Given the description of an element on the screen output the (x, y) to click on. 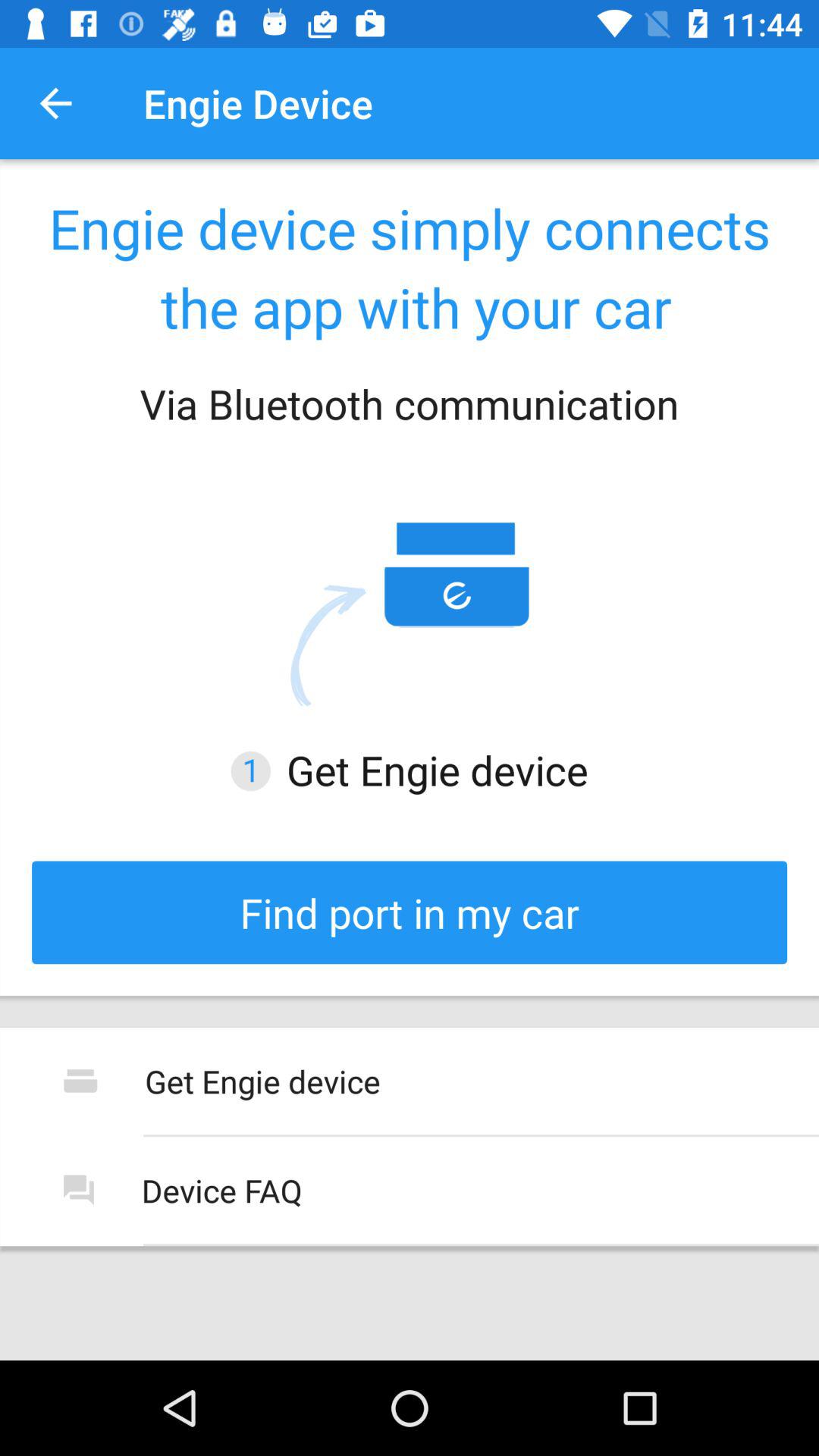
turn on the item next to the engie device icon (55, 103)
